Given the description of an element on the screen output the (x, y) to click on. 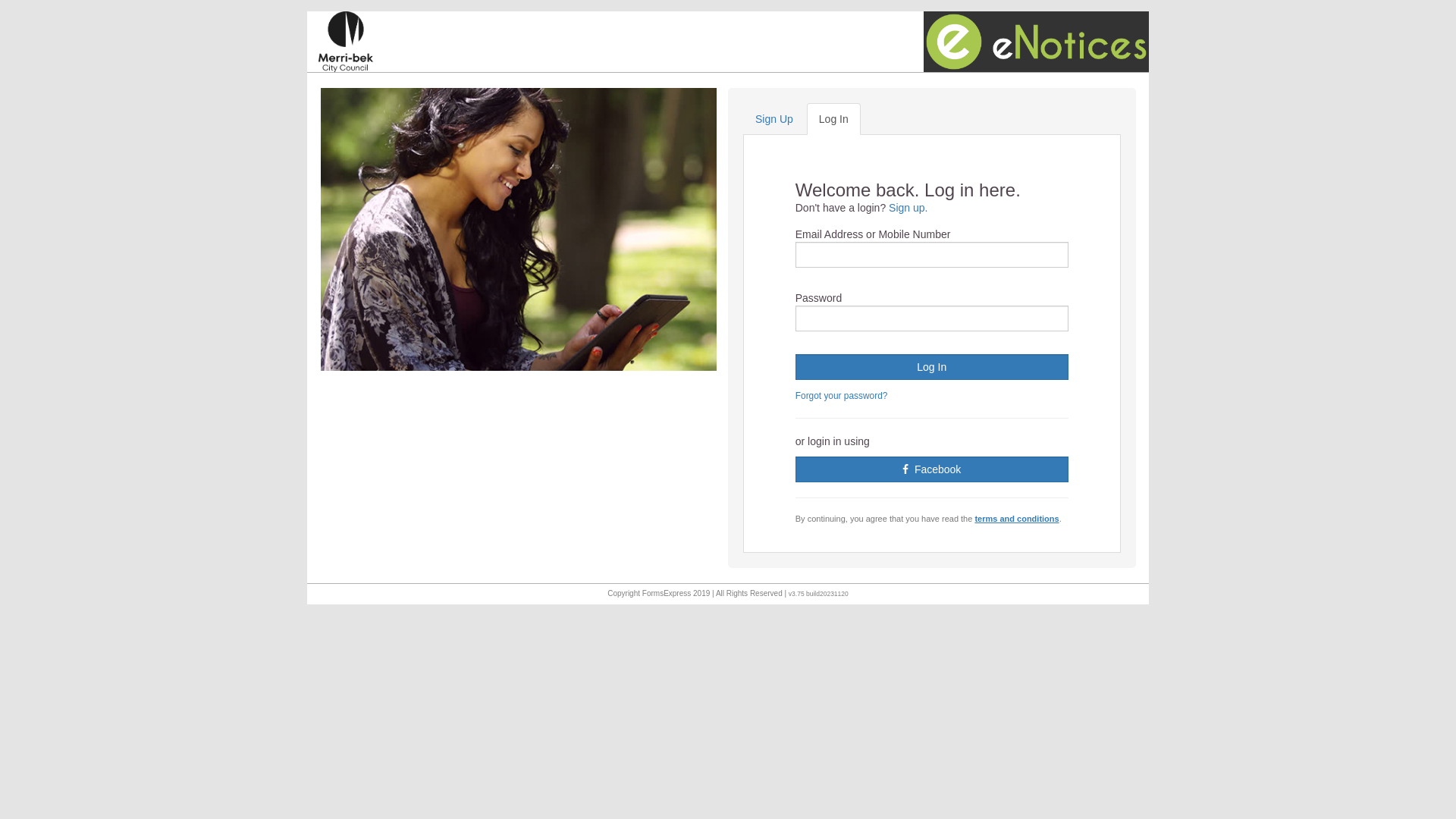
Log In Element type: text (931, 366)
Sign up. Element type: text (907, 207)
terms and conditions Element type: text (1016, 518)
Sign Up Element type: text (774, 118)
Log In Element type: text (833, 118)
  Facebook Element type: text (931, 469)
Forgot your password? Element type: text (841, 395)
